Given the description of an element on the screen output the (x, y) to click on. 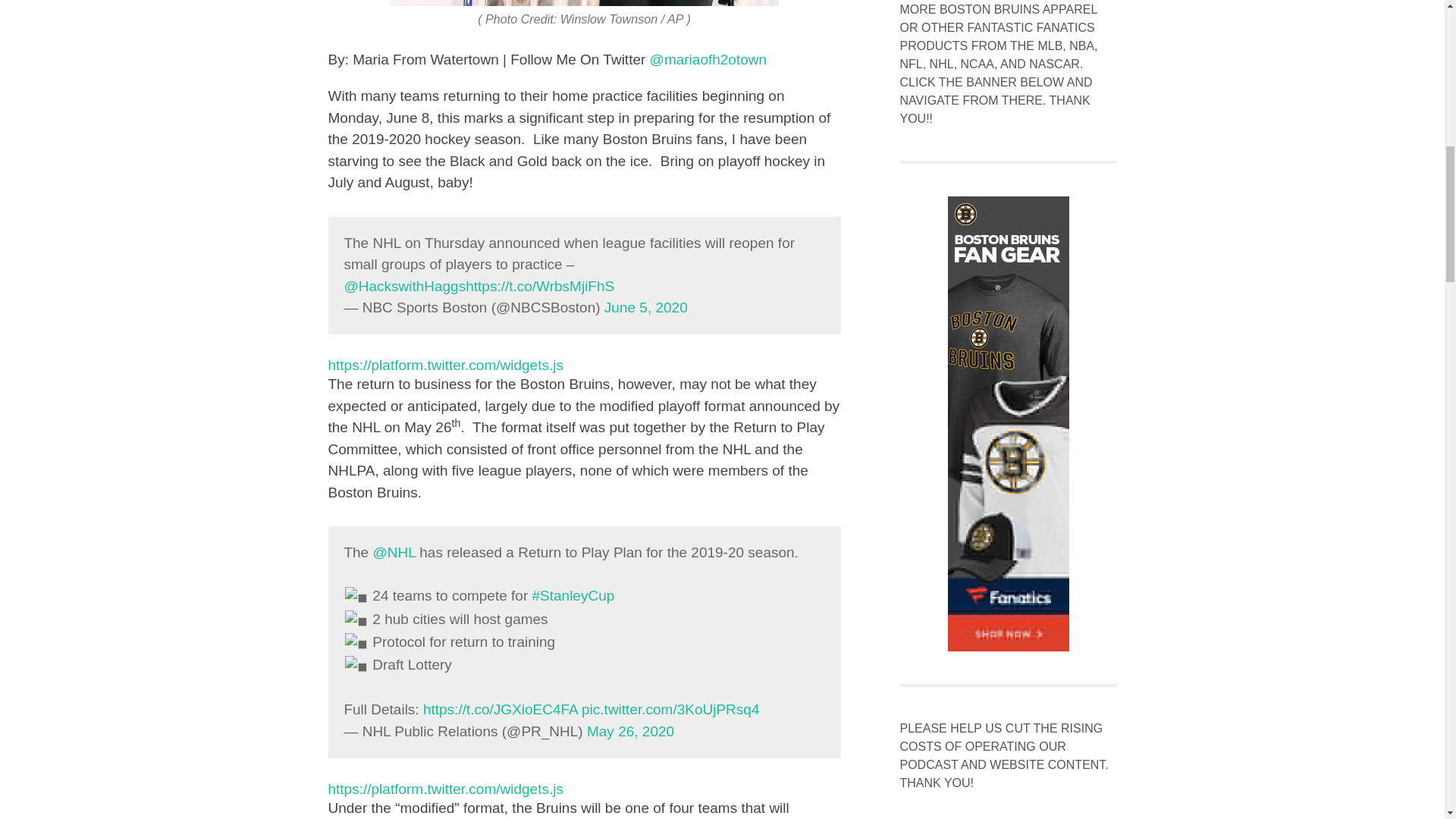
May 26, 2020 (630, 731)
June 5, 2020 (645, 307)
